Given the description of an element on the screen output the (x, y) to click on. 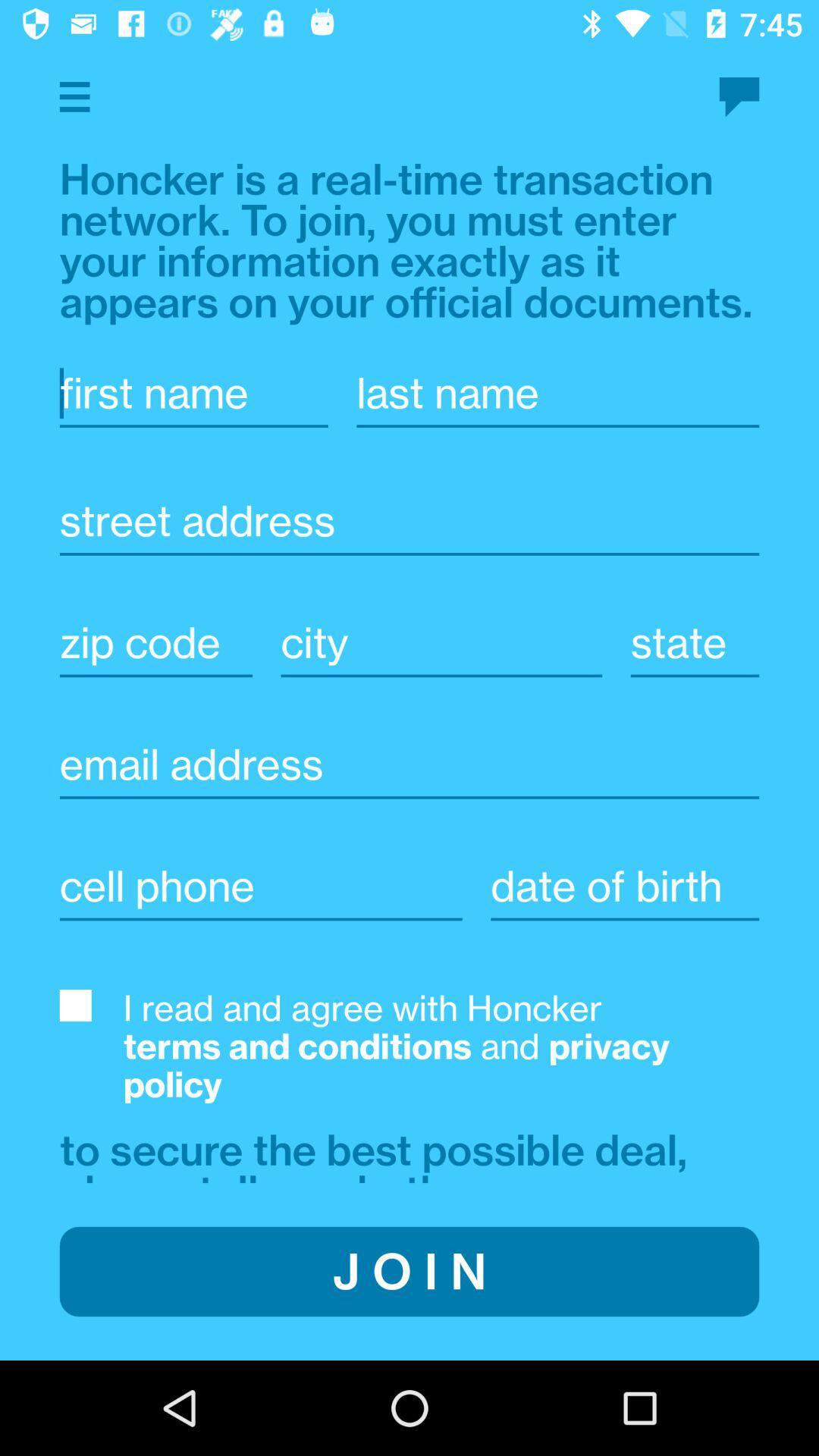
cellphone (260, 886)
